Given the description of an element on the screen output the (x, y) to click on. 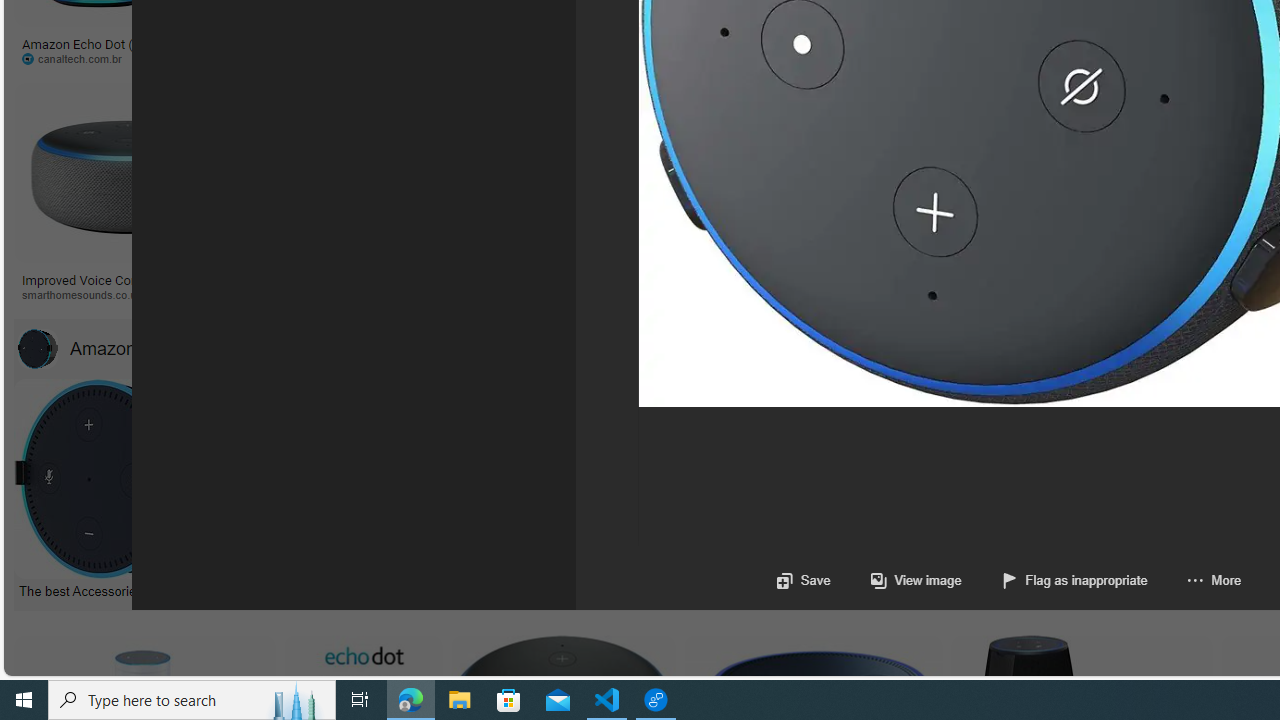
Save (802, 580)
canaltech.com.br (78, 57)
Android Central (697, 294)
More (1193, 580)
croma.com (885, 58)
More (1213, 580)
Image result for Amazon Echo Dot PNG (944, 172)
Flag as inappropriate (1074, 580)
